Given the description of an element on the screen output the (x, y) to click on. 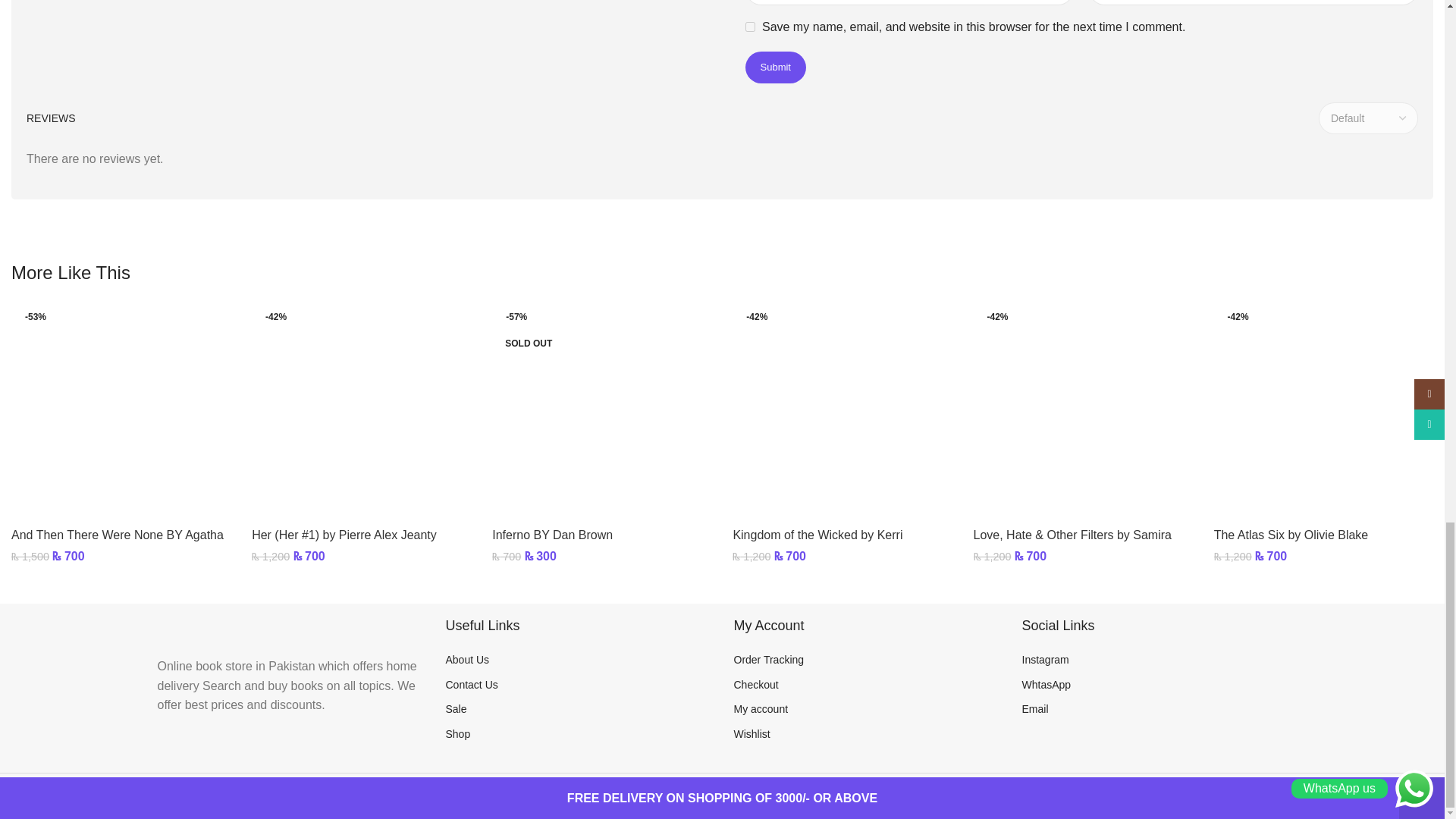
Submit (774, 67)
yes (749, 26)
